Given the description of an element on the screen output the (x, y) to click on. 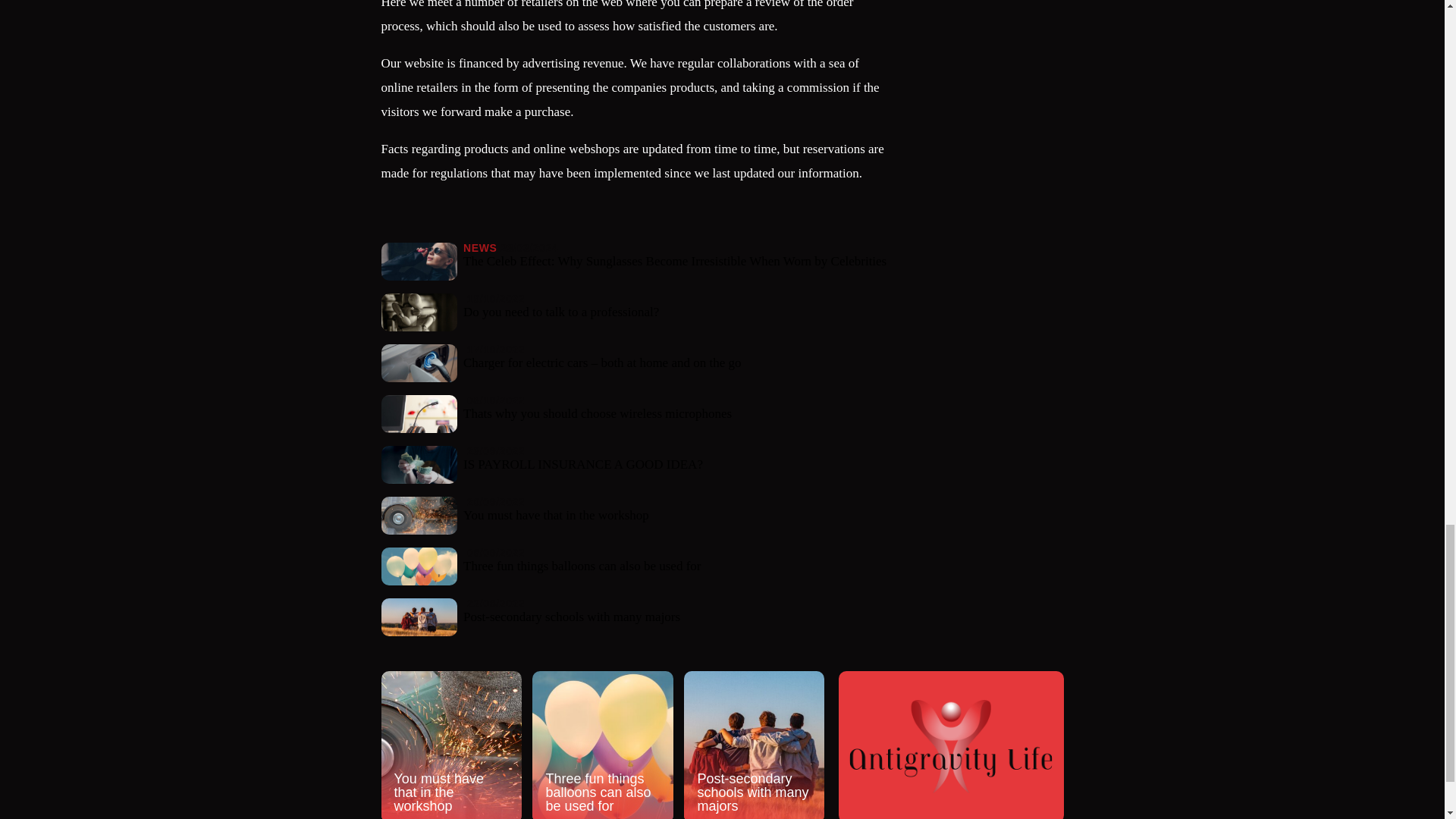
You must have that in the workshop (450, 744)
Three fun things balloons can also be used for (602, 744)
Post-secondary schools with many majors (754, 744)
